Given the description of an element on the screen output the (x, y) to click on. 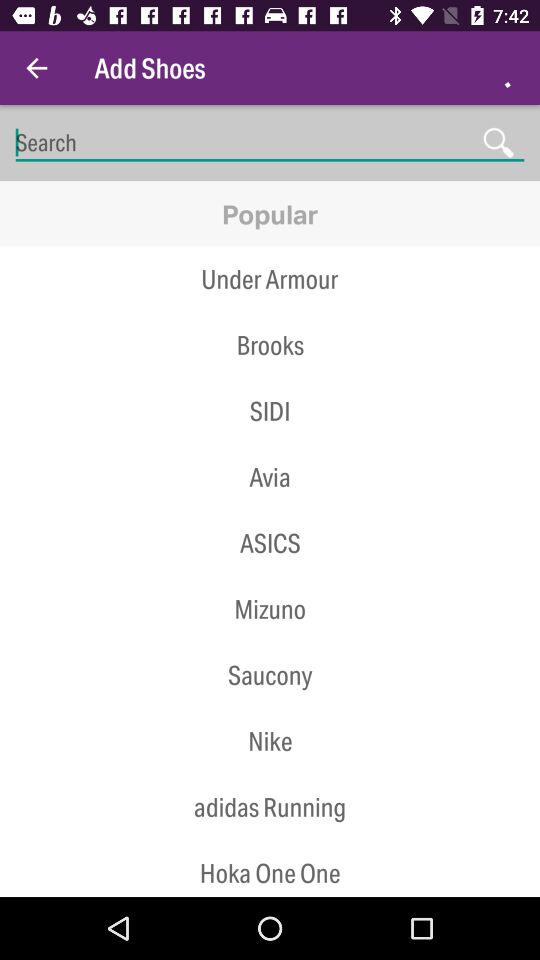
press the item below the avia item (270, 543)
